Given the description of an element on the screen output the (x, y) to click on. 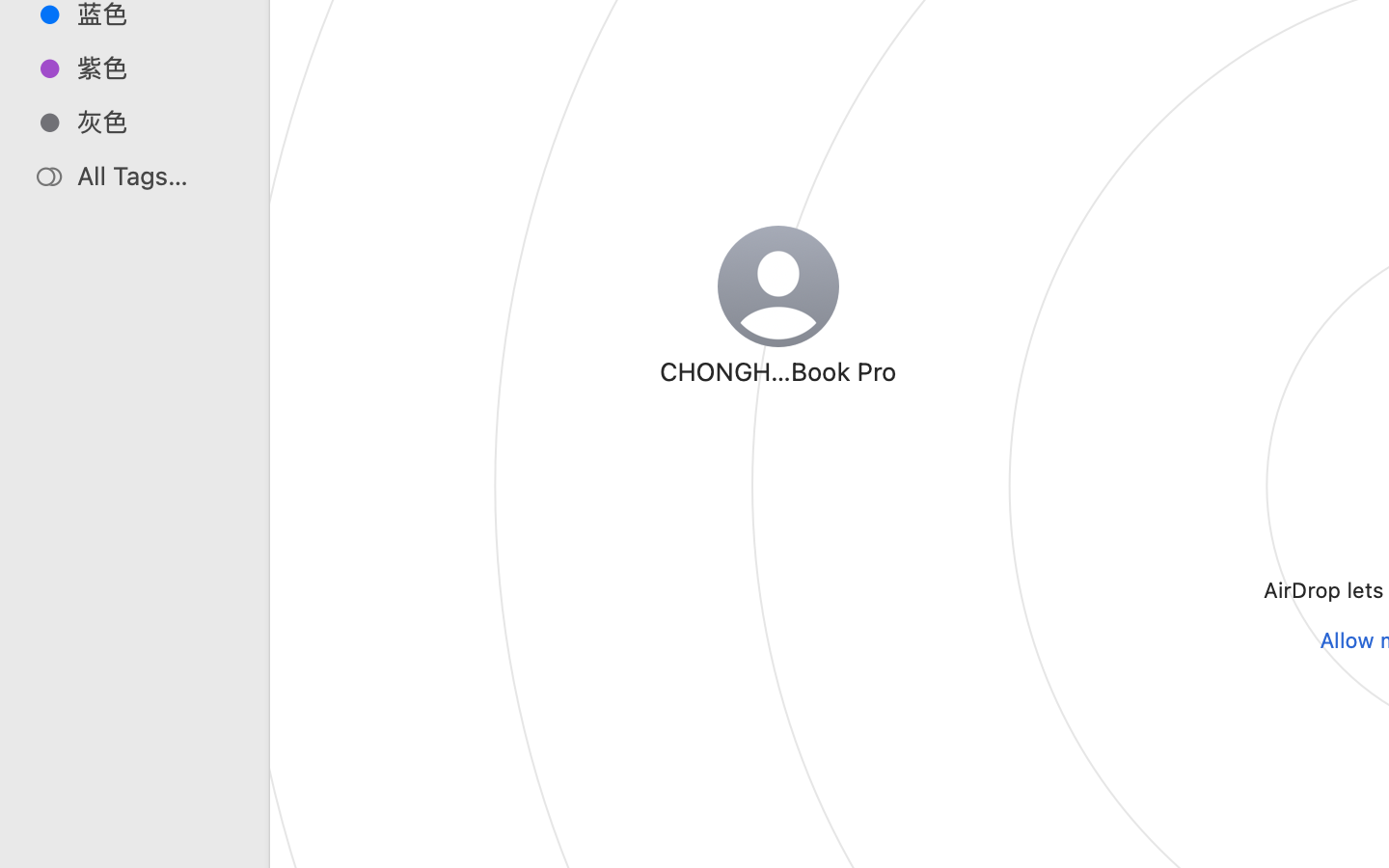
0 Element type: AXRadioButton (23, 846)
Tags… Element type: AXStaticText (41, 852)
AirDrop Element type: AXStaticText (875, 786)
CHONGHAO’s MacBook Pro Element type: AXStaticText (777, 369)
灰色 Element type: AXStaticText (155, 121)
